Given the description of an element on the screen output the (x, y) to click on. 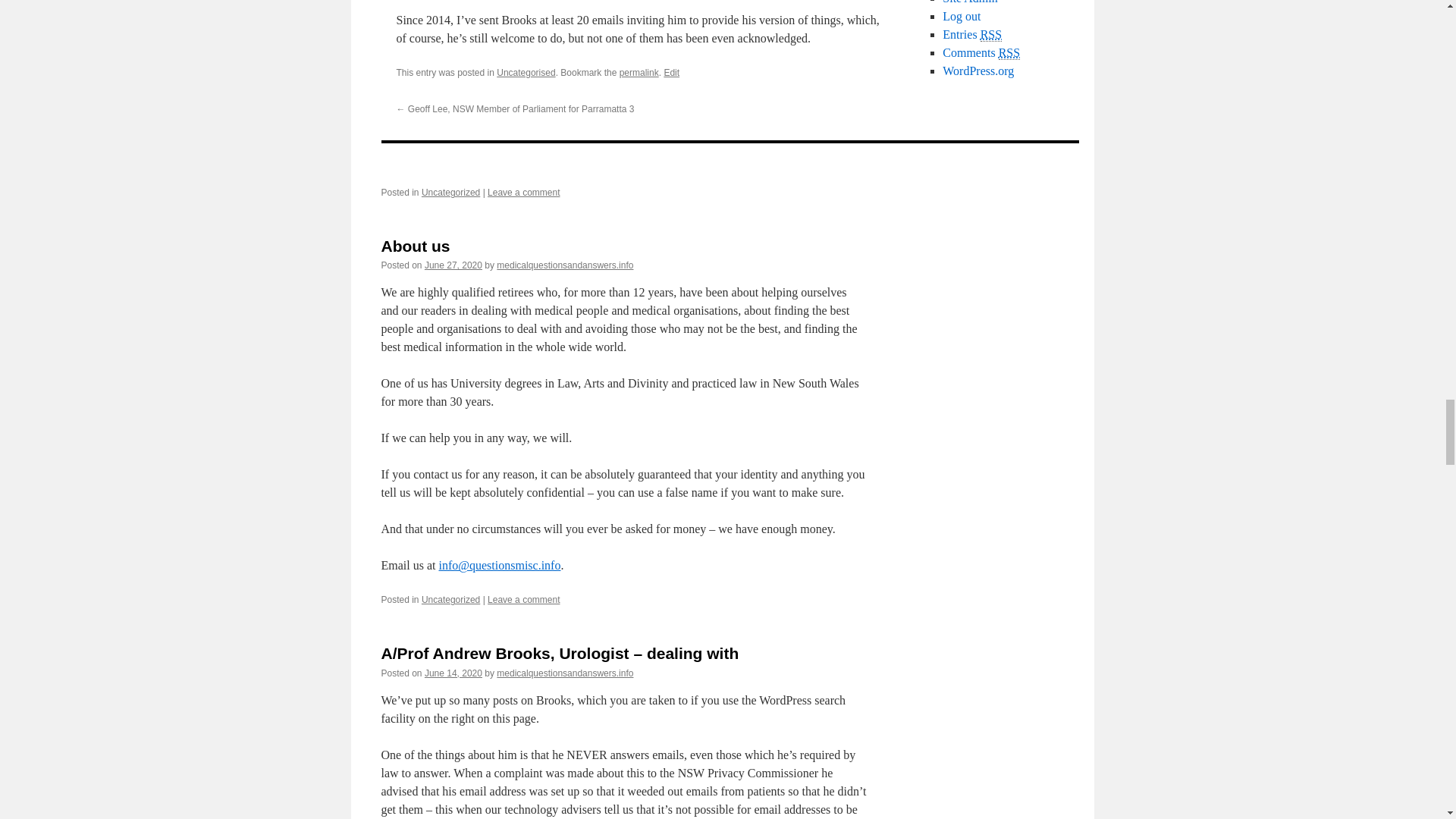
3:34 pm (453, 673)
Really Simple Syndication (1009, 52)
1:05 pm (453, 265)
View all posts by medicalquestionsandanswers.info (564, 265)
Really Simple Syndication (990, 34)
permalink (639, 72)
Uncategorised (525, 72)
Edit (671, 72)
